Given the description of an element on the screen output the (x, y) to click on. 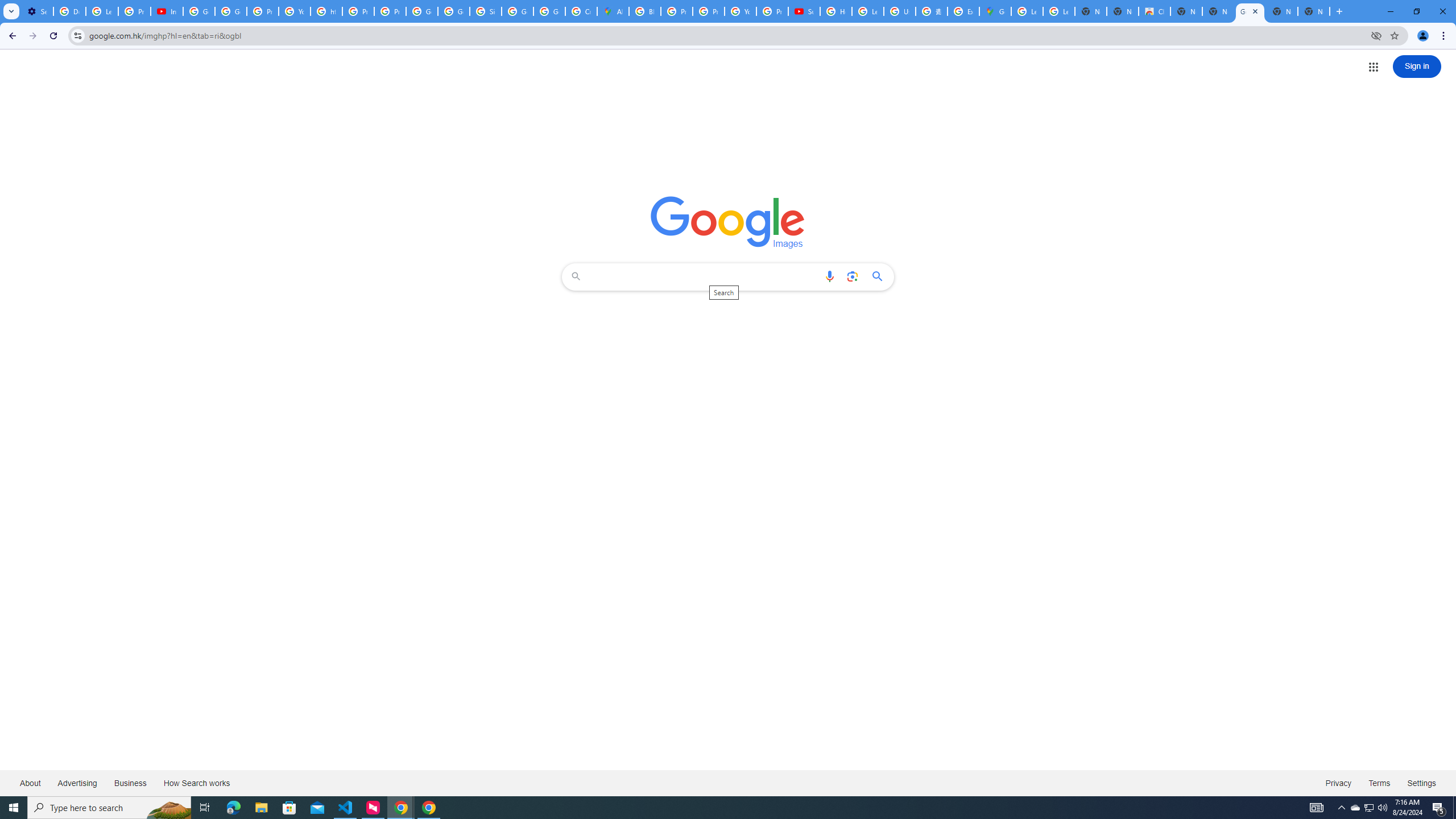
Settings (1421, 782)
Introduction | Google Privacy Policy - YouTube (166, 11)
Privacy Help Center - Policies Help (358, 11)
Third-party cookies blocked (1376, 35)
Google Search (880, 276)
Business (129, 782)
About (30, 782)
Create your Google Account (581, 11)
Blogger Policies and Guidelines - Transparency Center (644, 11)
Learn how to find your photos - Google Photos Help (101, 11)
Search by image (852, 276)
Subscriptions - YouTube (804, 11)
